Given the description of an element on the screen output the (x, y) to click on. 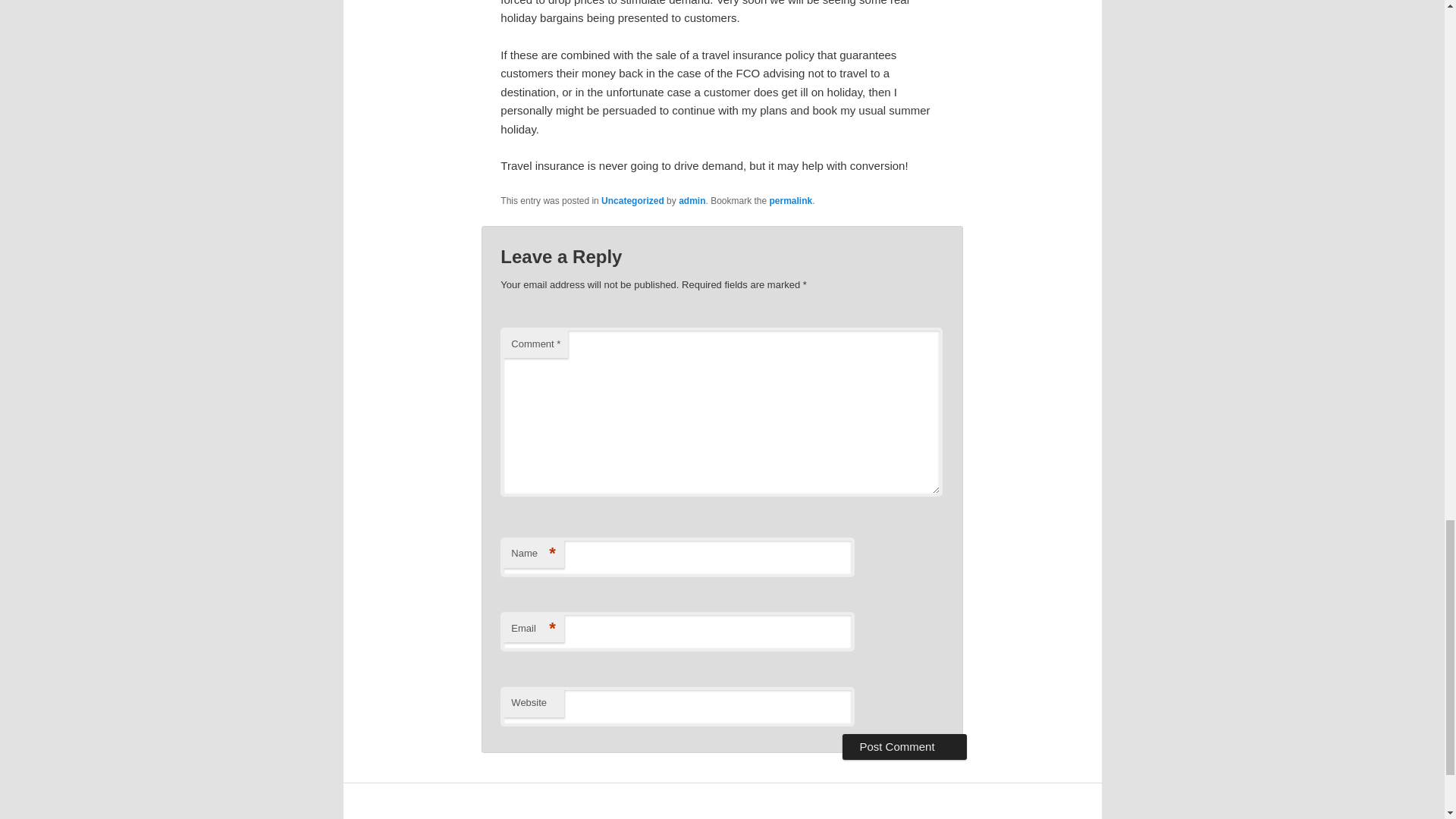
Uncategorized (632, 200)
permalink (791, 200)
Post Comment (904, 746)
Post Comment (904, 746)
admin (691, 200)
